Given the description of an element on the screen output the (x, y) to click on. 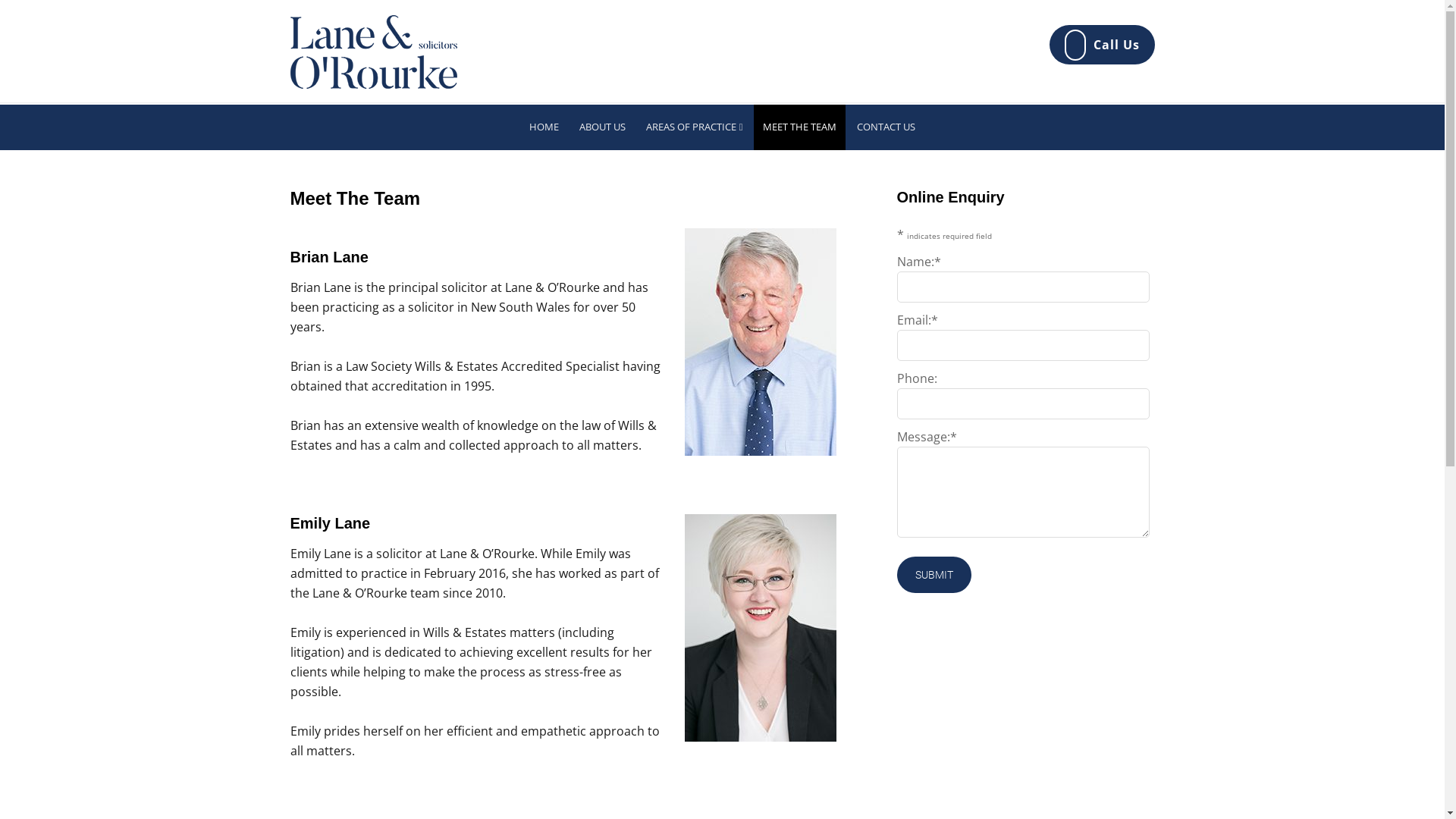
Call Us Element type: text (1101, 44)
HOME Element type: text (543, 127)
MEET THE TEAM Element type: text (799, 127)
Lane & ORourke Earlwood Element type: hover (372, 77)
CONTACT US Element type: text (885, 127)
Submit Element type: text (933, 574)
ABOUT US Element type: text (602, 127)
AREAS OF PRACTICE Element type: text (694, 127)
